Given the description of an element on the screen output the (x, y) to click on. 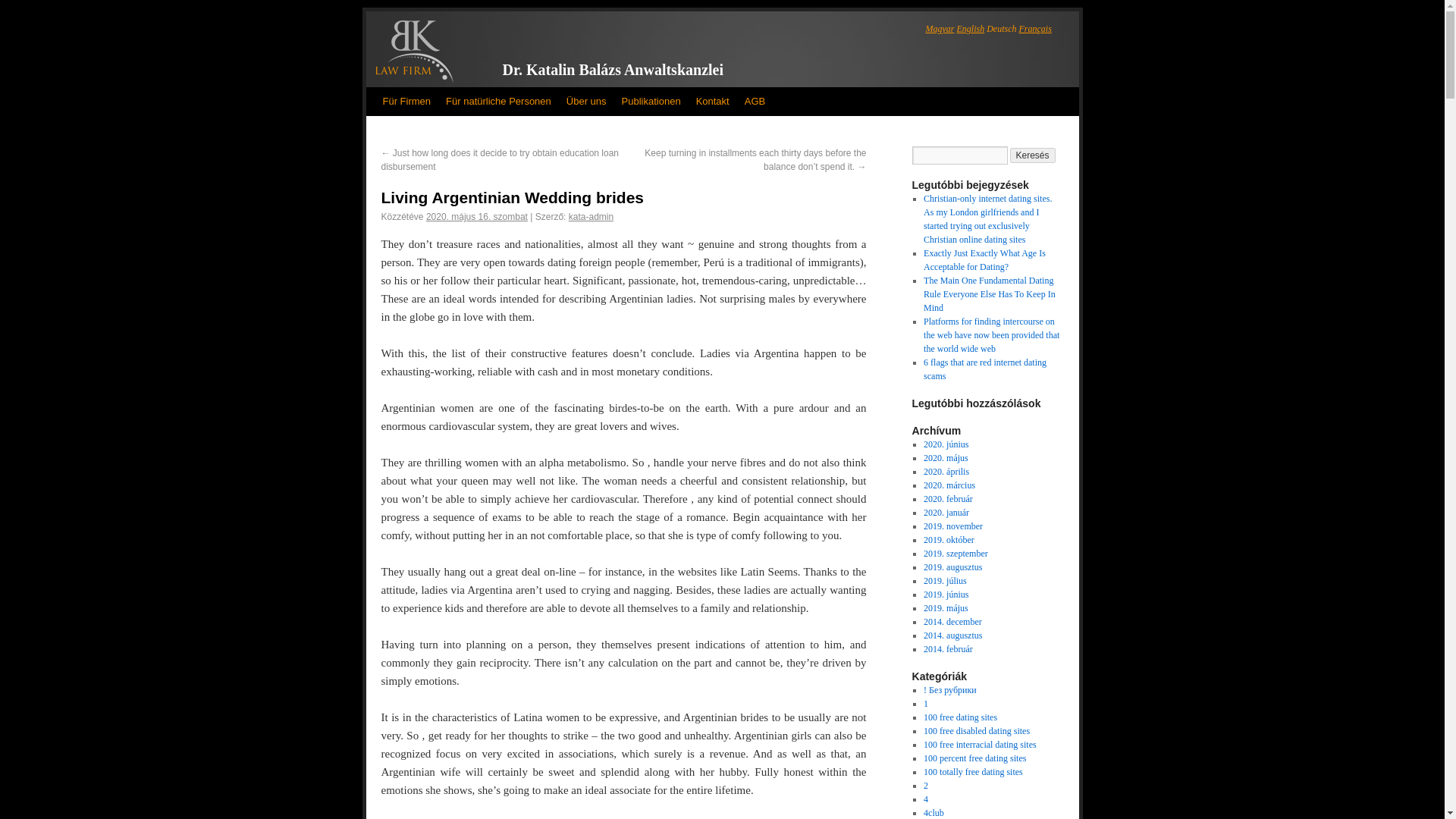
18:20 (476, 216)
Publikationen (651, 101)
English (970, 28)
Magyar (938, 28)
AGB (754, 101)
Deutsch (1001, 28)
kata-admin (590, 216)
Kontakt (712, 101)
